Given the description of an element on the screen output the (x, y) to click on. 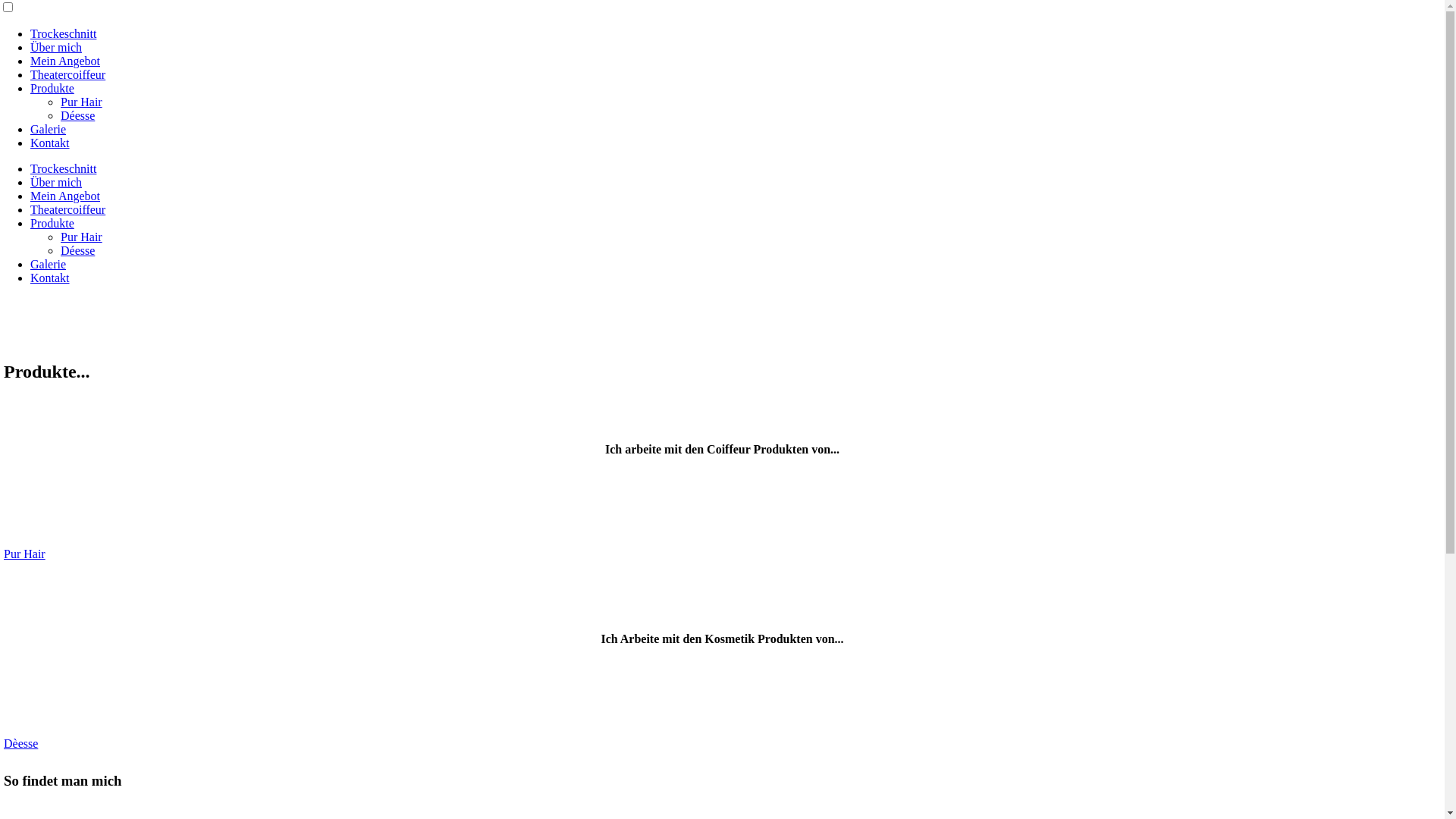
Mein Angebot Element type: text (65, 60)
Kontakt Element type: text (49, 277)
Produkte Element type: text (52, 87)
Pur Hair Element type: text (81, 101)
Theatercoiffeur Element type: text (67, 74)
Pur Hair Element type: text (24, 553)
Kontakt Element type: text (49, 142)
Galerie Element type: text (47, 128)
Mein Angebot Element type: text (65, 195)
Trockeschnitt Element type: text (63, 33)
Galerie Element type: text (47, 263)
Pur Hair Element type: text (81, 236)
Trockeschnitt Element type: text (63, 168)
Theatercoiffeur Element type: text (67, 209)
Produkte Element type: text (52, 222)
